Given the description of an element on the screen output the (x, y) to click on. 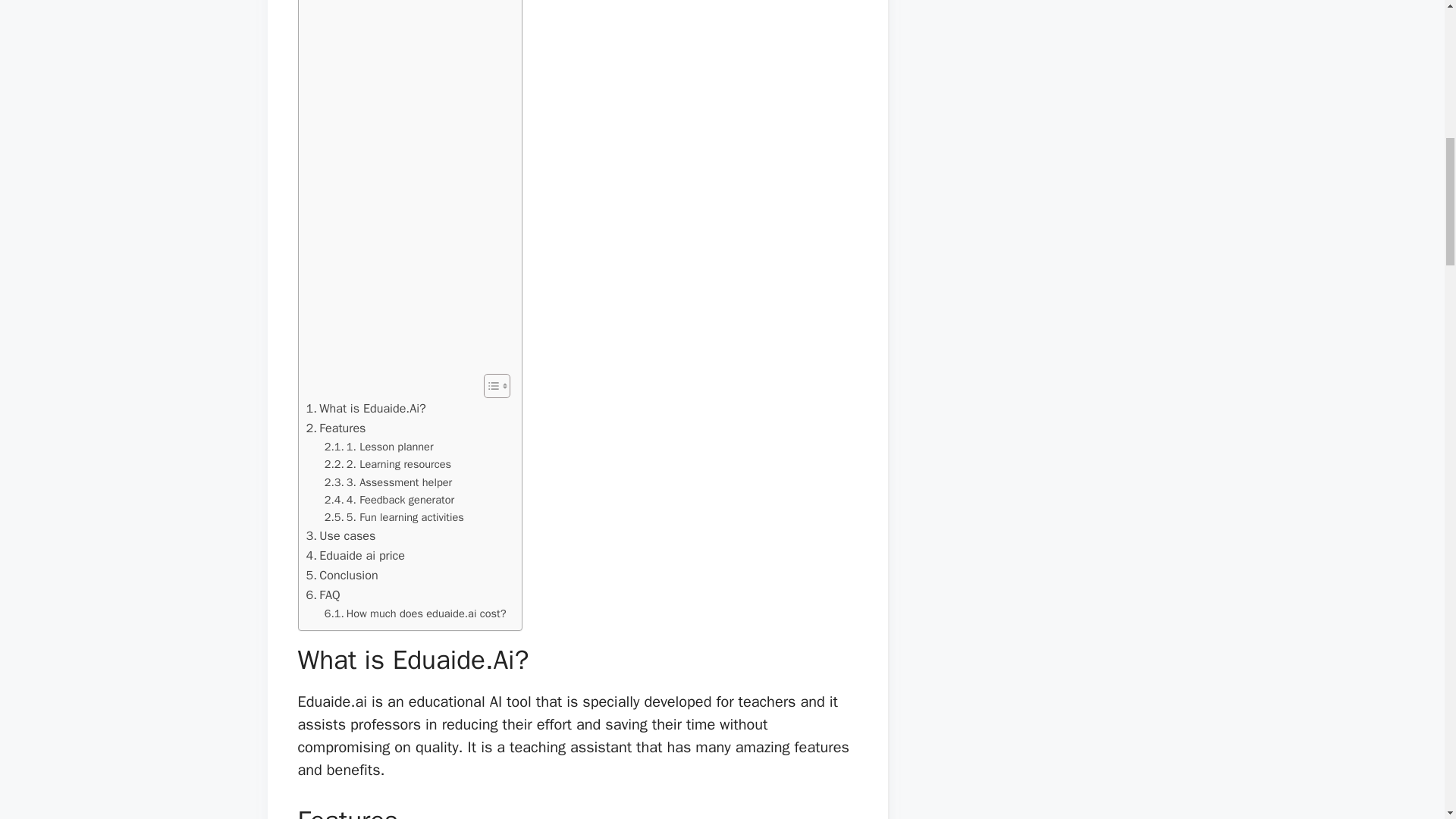
1. Lesson planner (378, 446)
3. Assessment helper (388, 482)
2. Learning resources (387, 464)
FAQ (322, 595)
4. Feedback generator (389, 499)
1. Lesson planner (378, 446)
Advertisement (405, 183)
Eduaide ai price (355, 555)
5. Fun learning activities (394, 517)
Features (335, 428)
Conclusion (341, 575)
Eduaide ai price (355, 555)
2. Learning resources (387, 464)
How much does eduaide.ai cost? (415, 613)
5. Fun learning activities (394, 517)
